Given the description of an element on the screen output the (x, y) to click on. 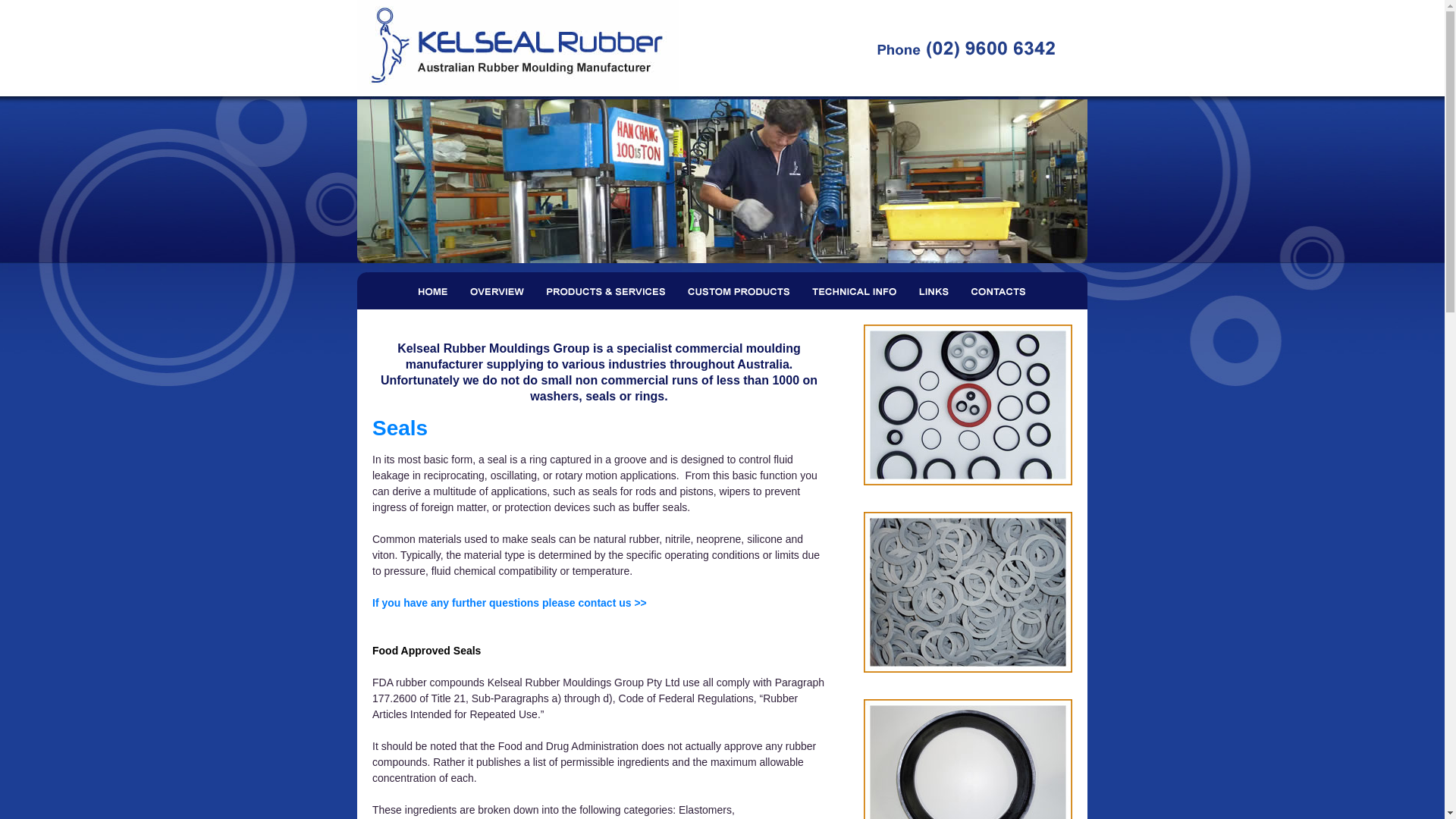
If you have any further questions please contact us >> Element type: text (509, 602)
